Given the description of an element on the screen output the (x, y) to click on. 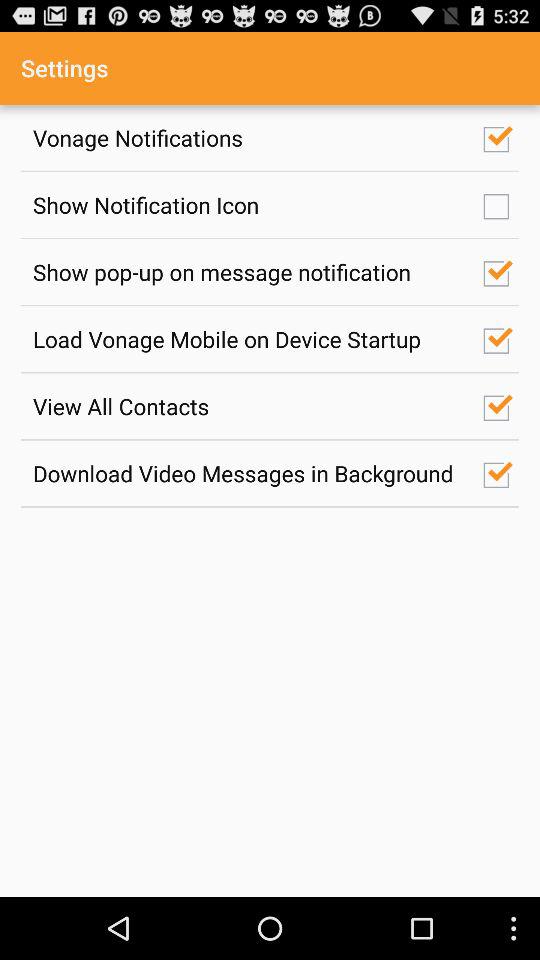
choose the item above the view all contacts (247, 338)
